Given the description of an element on the screen output the (x, y) to click on. 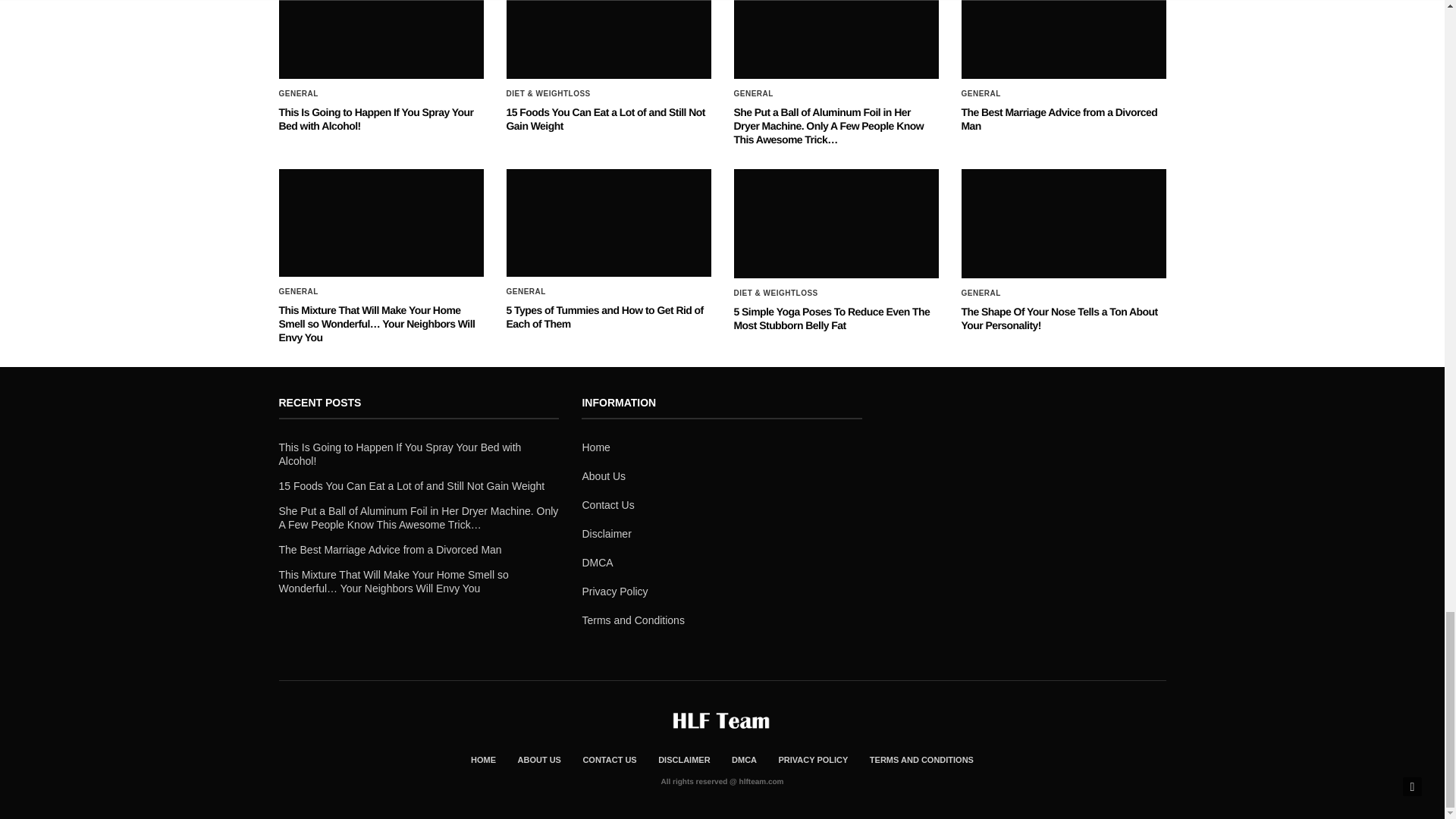
General (298, 93)
This Is Going to Happen If You Spray Your Bed with Alcohol! (381, 39)
The Best Marriage Advice from a Divorced Man (1063, 39)
15 Foods You Can Eat a Lot of and Still Not Gain Weight (605, 118)
GENERAL (980, 93)
GENERAL (753, 93)
15 Foods You Can Eat a Lot of and Still Not Gain Weight (608, 39)
General (753, 93)
15 Foods You Can Eat a Lot of and Still Not Gain Weight (605, 118)
This Is Going to Happen If You Spray Your Bed with Alcohol! (376, 118)
The Best Marriage Advice from a Divorced Man (1058, 118)
GENERAL (298, 93)
This Is Going to Happen If You Spray Your Bed with Alcohol! (376, 118)
